Given the description of an element on the screen output the (x, y) to click on. 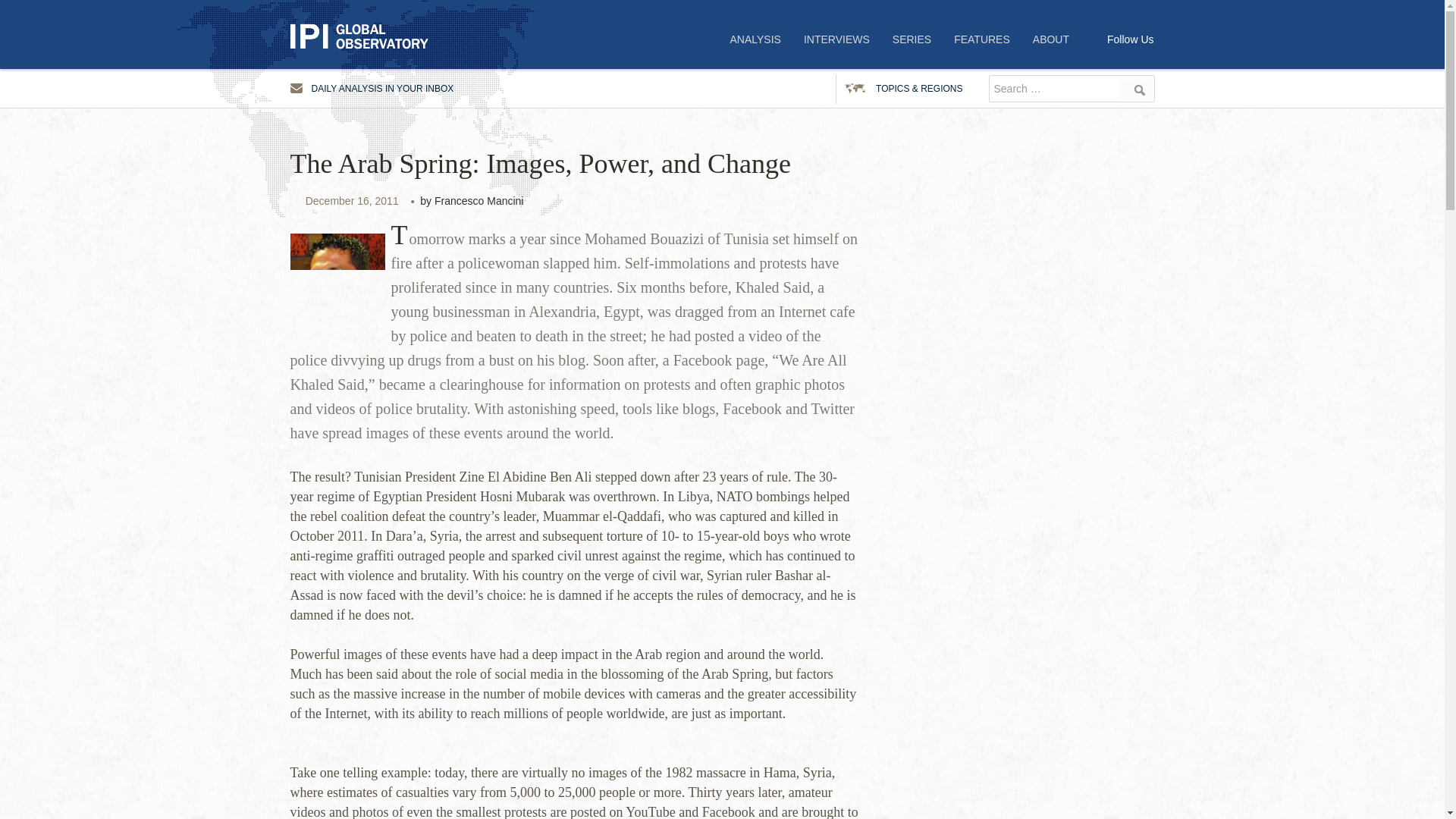
ABOUT (1051, 39)
Permalink to The Arab Spring: Images, Power, and Change (351, 200)
Search for: (1053, 88)
SERIES (911, 39)
IPI Global Observatory (365, 36)
search (1136, 88)
ANALYSIS (754, 39)
Follow Us (1130, 39)
INTERVIEWS (836, 39)
FEATURES (982, 39)
